Given the description of an element on the screen output the (x, y) to click on. 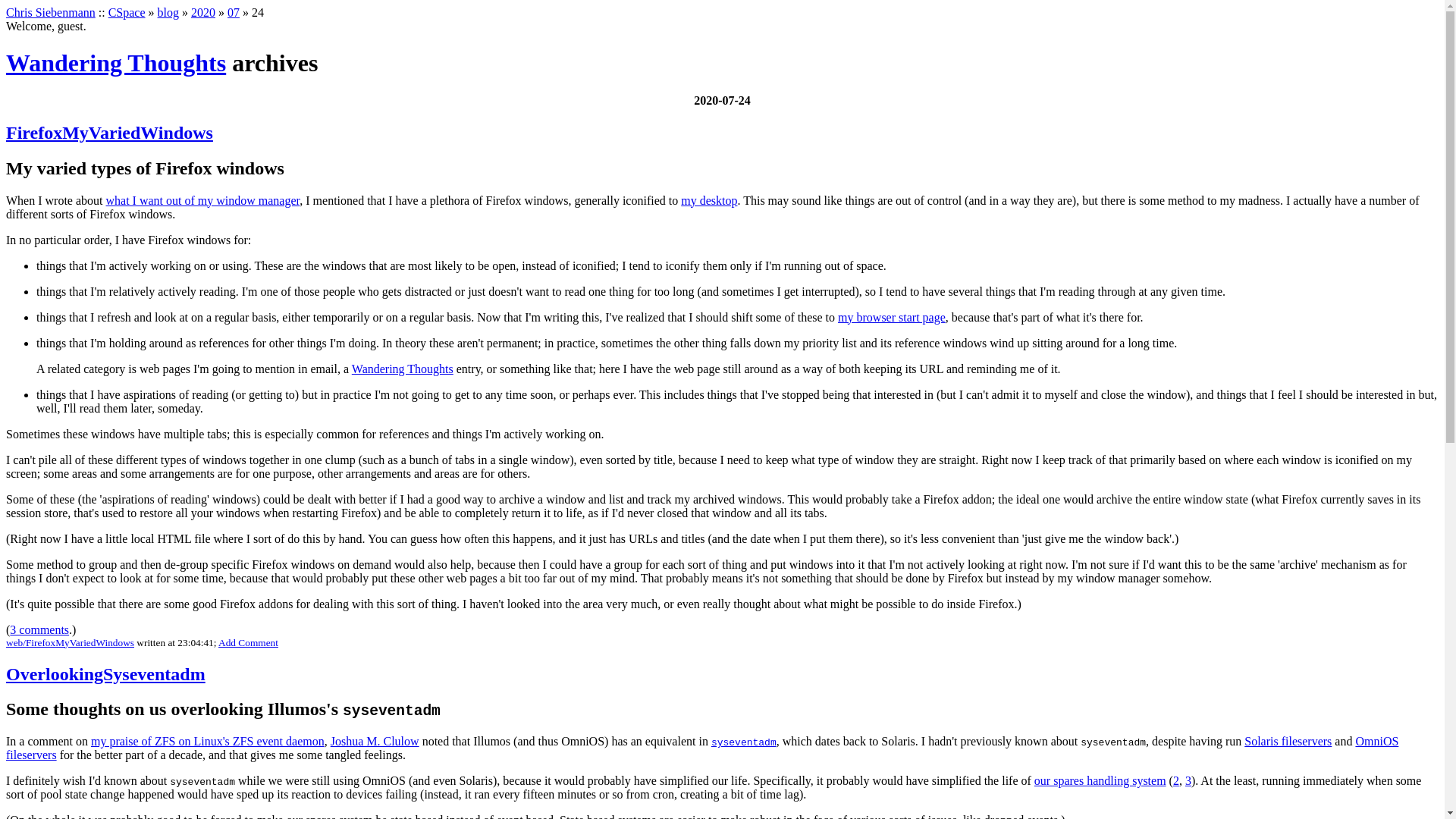
my desktop (708, 200)
Solaris fileservers (1288, 740)
Add Comment (248, 642)
OmniOS fileservers (701, 747)
our spares handling system (1099, 780)
OverlookingSyseventadm (105, 673)
Joshua M. Clulow (374, 740)
what I want out of my window manager (202, 200)
07 (233, 11)
my browser start page (891, 317)
